Given the description of an element on the screen output the (x, y) to click on. 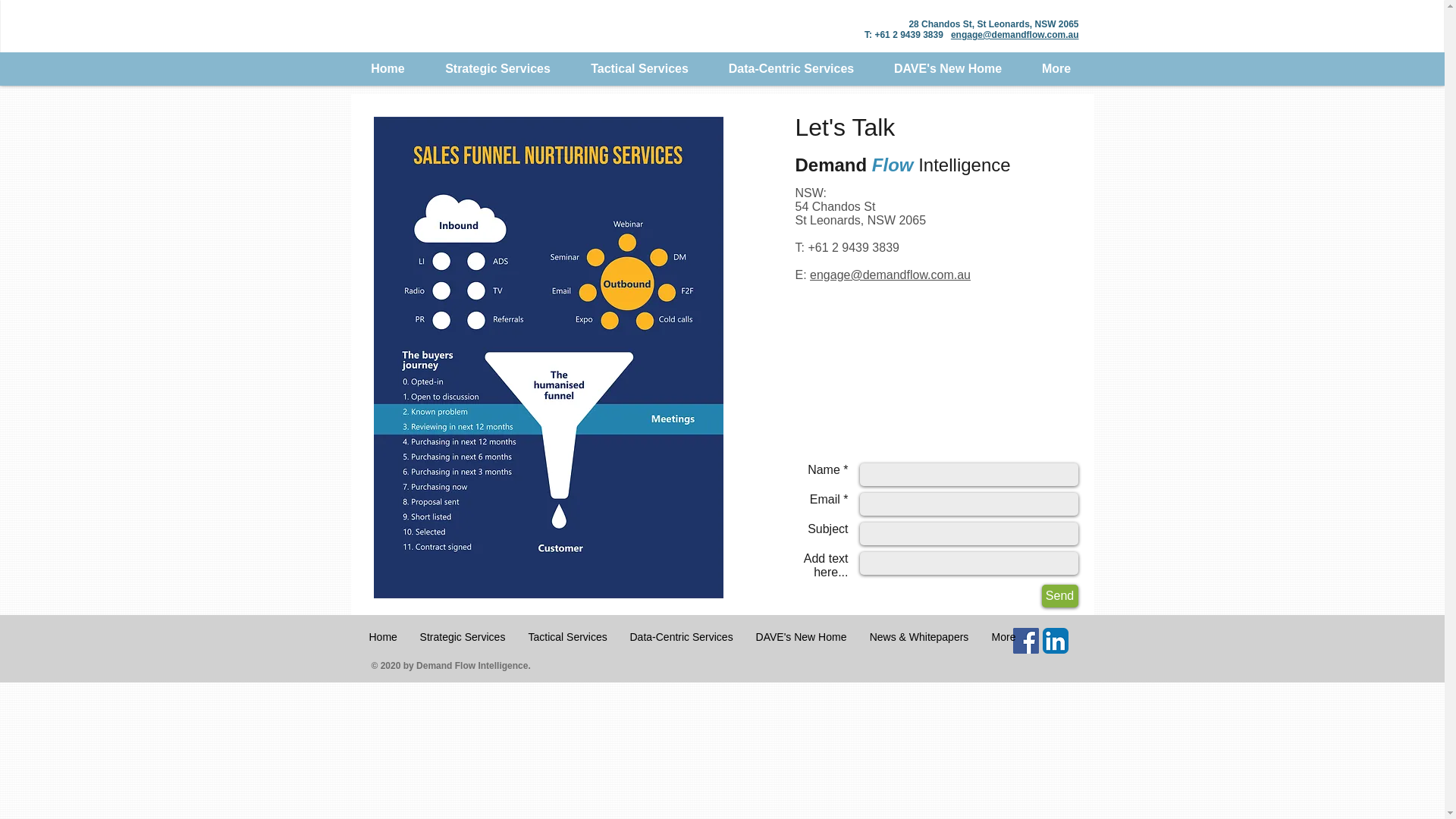
Data-Centric Services Element type: text (790, 68)
Home Element type: text (382, 636)
DAVE's New Home Element type: text (801, 636)
engage@demandflow.com.au Element type: text (889, 274)
engage@demandflow.com.au Element type: text (1014, 34)
Strategic Services Element type: text (461, 636)
Funnel.JPG Element type: hover (547, 357)
DAVE's New Home Element type: text (947, 68)
Tactical Services Element type: text (639, 68)
Home Element type: text (387, 68)
Strategic Services Element type: text (497, 68)
Data-Centric Services Element type: text (681, 636)
News & Whitepapers Element type: text (919, 636)
Send Element type: text (1059, 595)
Tactical Services Element type: text (567, 636)
